Given the description of an element on the screen output the (x, y) to click on. 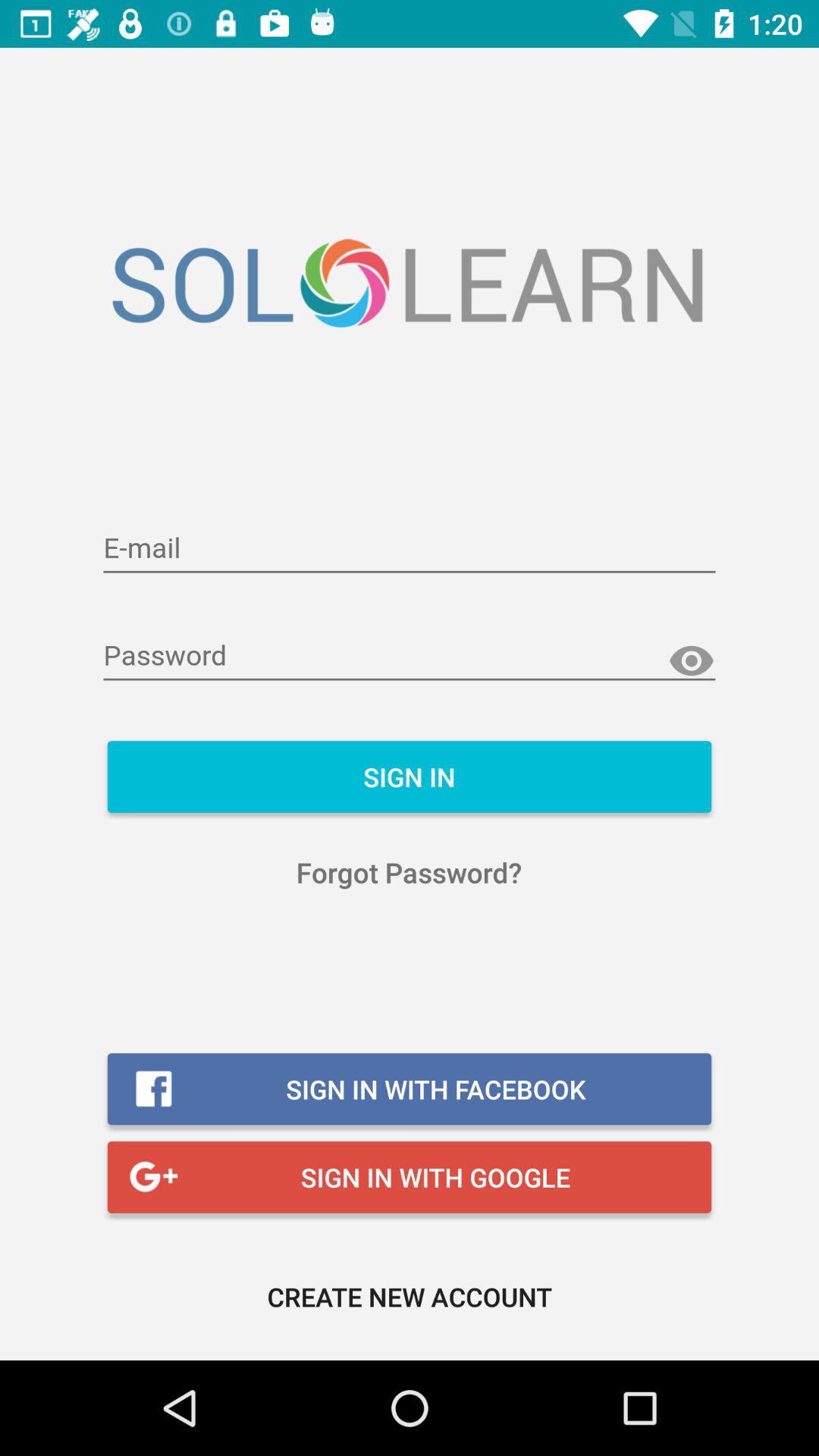
show password (691, 661)
